Given the description of an element on the screen output the (x, y) to click on. 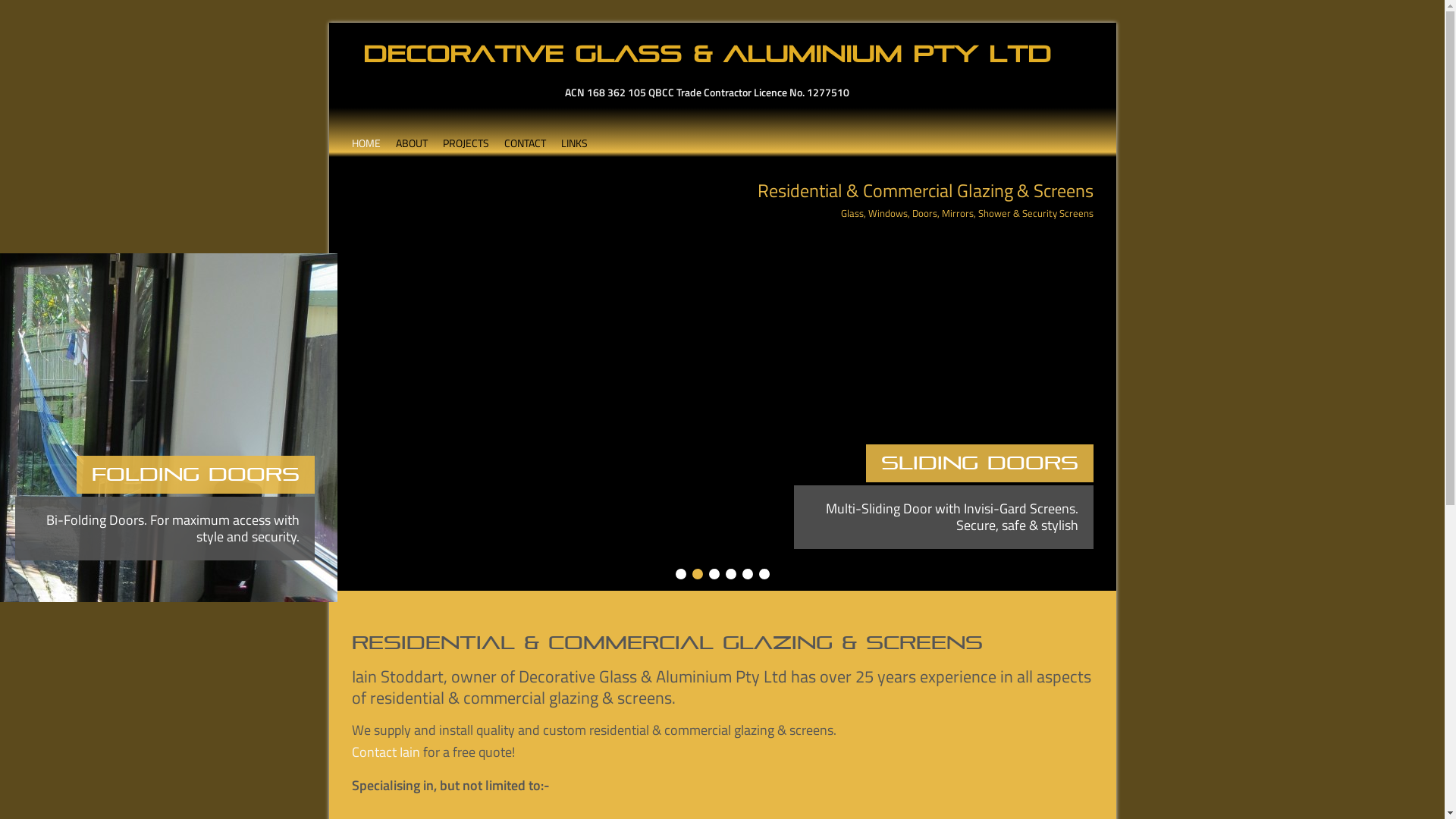
CONTACT Element type: text (524, 135)
Sliding Doors Element type: hover (722, 249)
ABOUT Element type: text (411, 135)
Decorative Glass & Aluminium Pty Ltd Element type: text (706, 51)
3 Element type: text (713, 573)
Folding Doors Element type: text (974, 462)
PROJECTS Element type: text (465, 135)
Sliding Doors Element type: hover (722, 415)
5 Element type: text (746, 573)
4 Element type: text (729, 573)
1 Element type: text (679, 573)
6 Element type: text (763, 573)
LINKS Element type: text (574, 135)
HOME Element type: text (365, 135)
Contact Iain Element type: text (385, 751)
2 Element type: text (696, 573)
Folding Doors Element type: hover (408, 254)
